Given the description of an element on the screen output the (x, y) to click on. 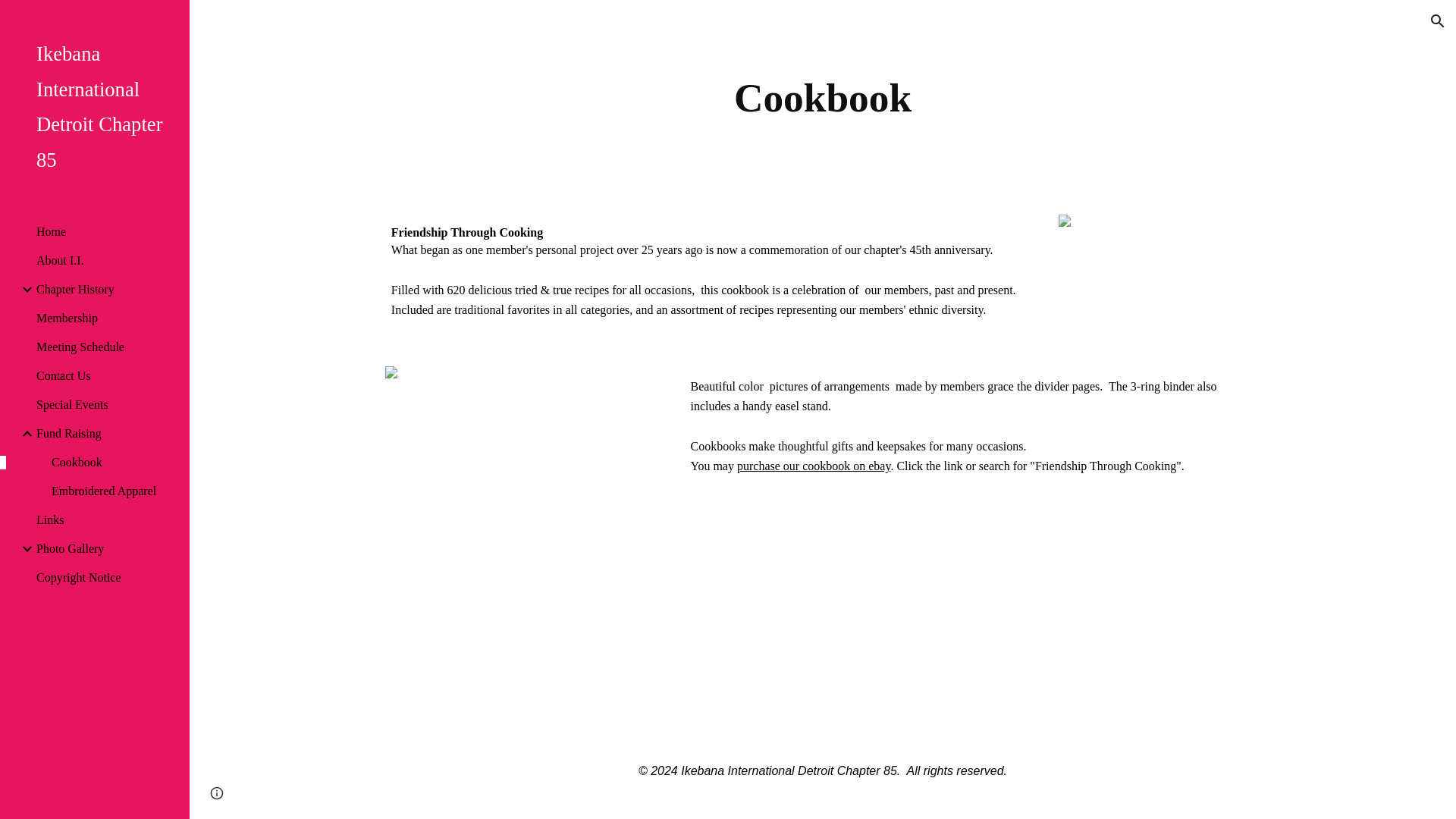
Home (106, 232)
Special Events (106, 404)
Links (106, 520)
Ikebana International Detroit Chapter 85 (100, 107)
Fund Raising (106, 433)
Embroidered Apparel (114, 490)
About I.I. (106, 260)
purchase our cookbook on ebay (812, 465)
Contact Us (106, 376)
Chapter History (106, 289)
Copyright Notice (106, 577)
Meeting Schedule (106, 346)
Membership (106, 318)
Cookbook (114, 462)
Photo Gallery (106, 549)
